Given the description of an element on the screen output the (x, y) to click on. 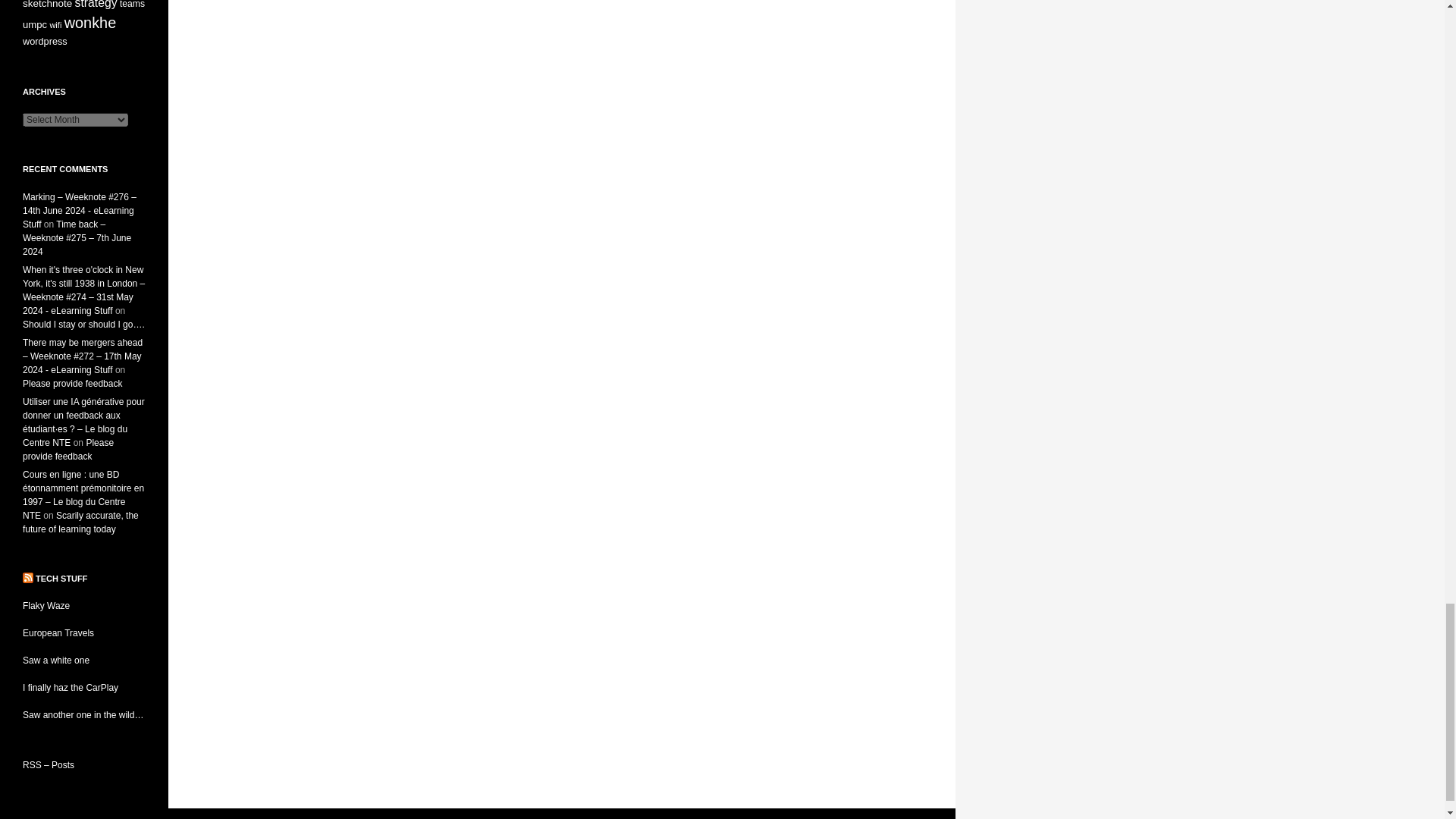
Subscribe to posts (48, 765)
